Given the description of an element on the screen output the (x, y) to click on. 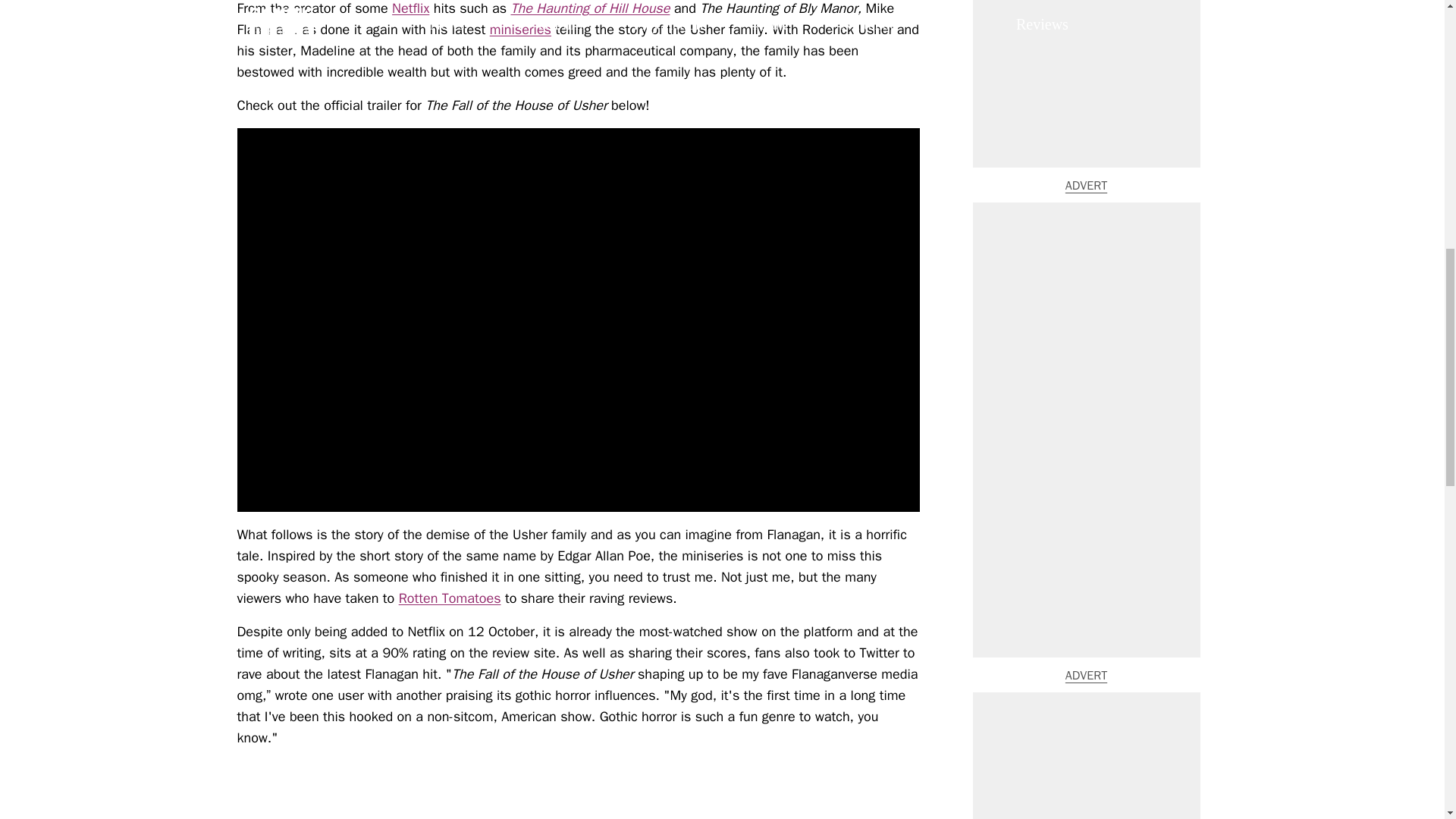
Netflix (410, 8)
Rotten Tomatoes (449, 597)
miniseries (520, 29)
The Haunting of Hill House (590, 8)
